Given the description of an element on the screen output the (x, y) to click on. 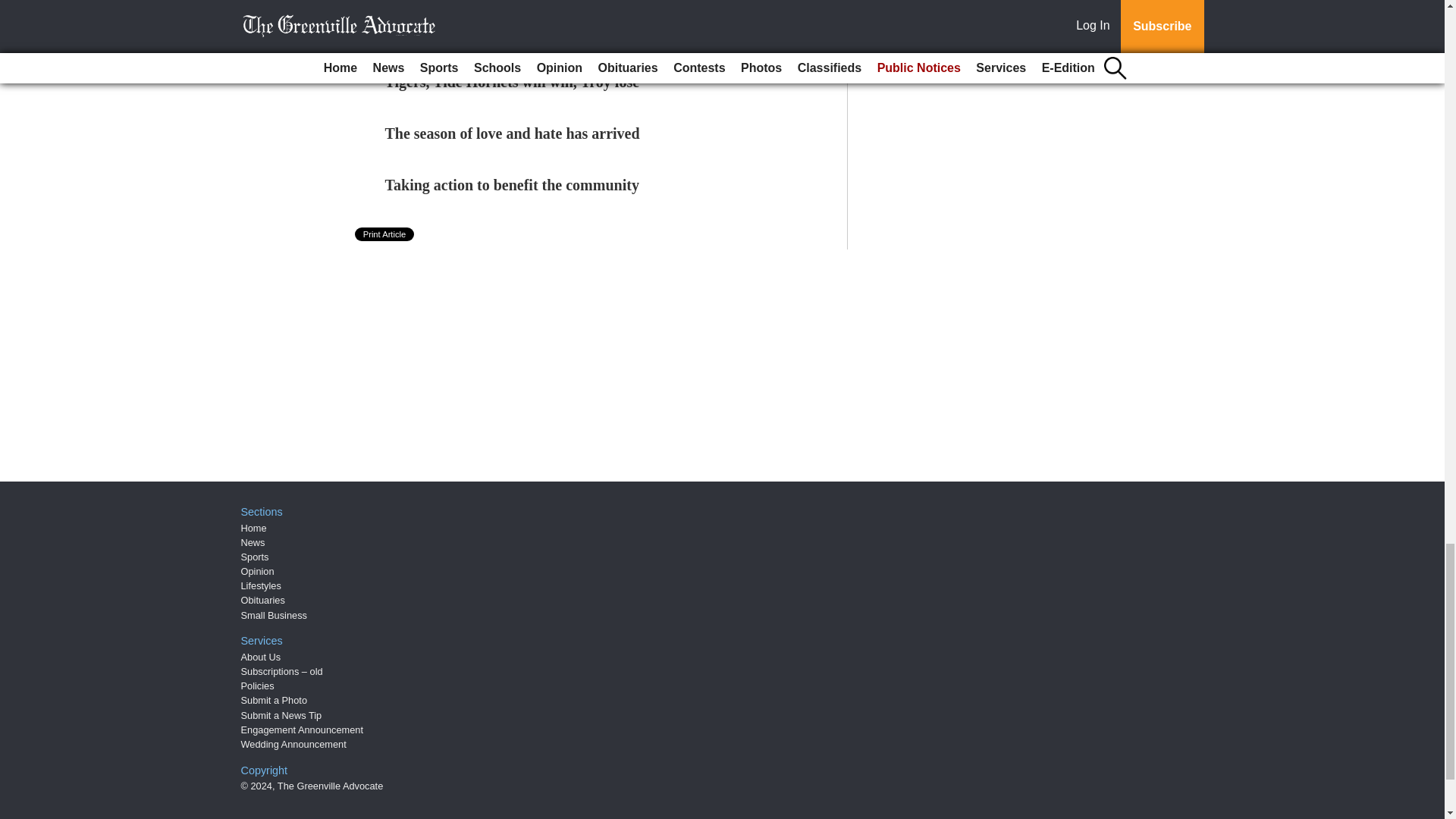
The season of love and hate has arrived (512, 133)
News (252, 542)
Home (253, 527)
Tigers, Tide Hornets will win, Troy lose (512, 81)
Opinion (258, 571)
Lifestyles (261, 585)
Sports (255, 556)
Taking action to benefit the community (512, 184)
Tigers, Tide Hornets will win, Troy lose (512, 81)
Print Article (384, 233)
The season of love and hate has arrived (512, 133)
Taking action to benefit the community (512, 184)
